Given the description of an element on the screen output the (x, y) to click on. 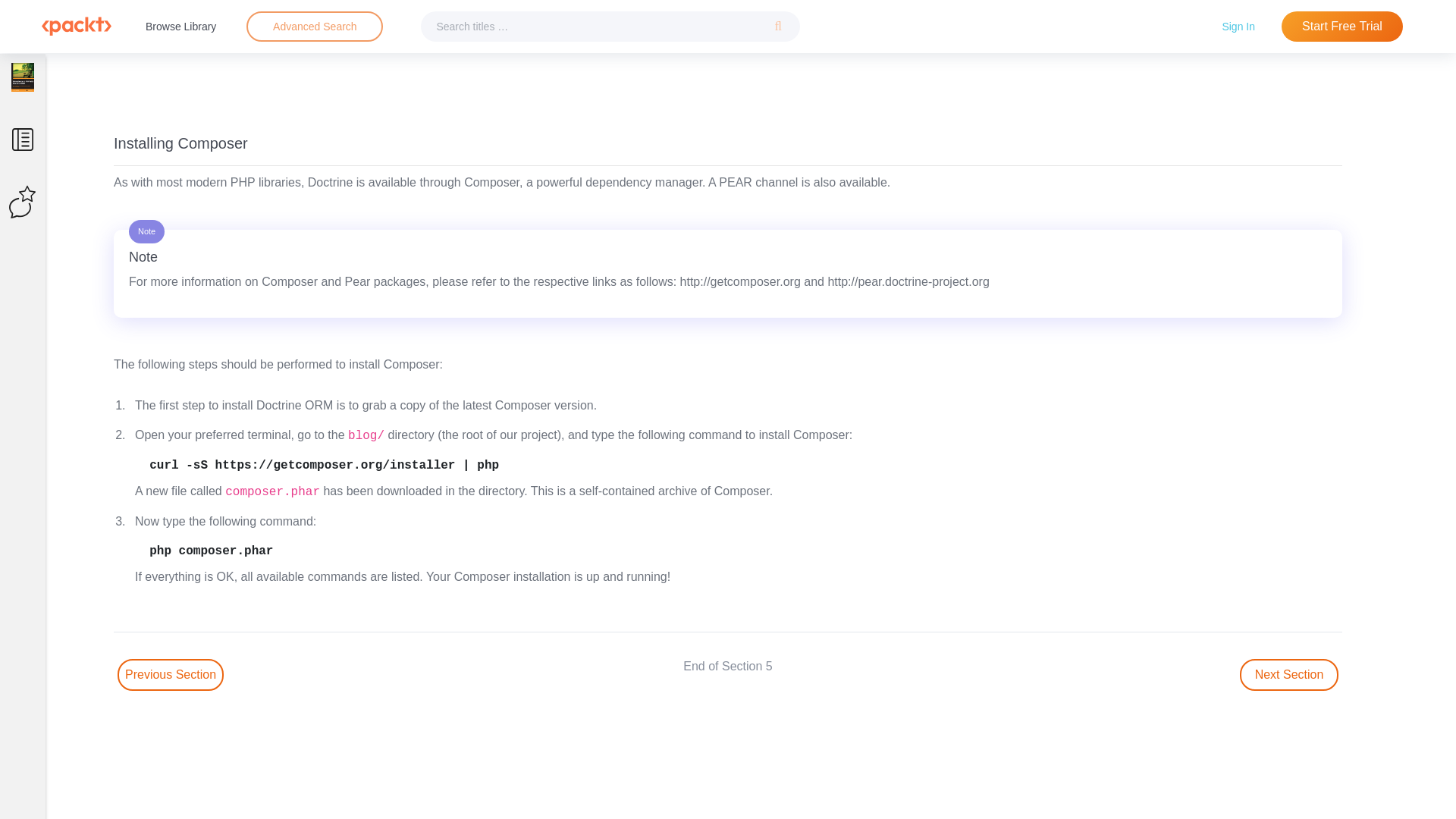
Advanced Search (315, 26)
Advanced Search (314, 26)
Go to Previous section (170, 675)
Sign In (1238, 26)
Go to next section (1289, 675)
Start Free Trial (1342, 26)
Browse Library (180, 26)
Advanced search (314, 26)
